Given the description of an element on the screen output the (x, y) to click on. 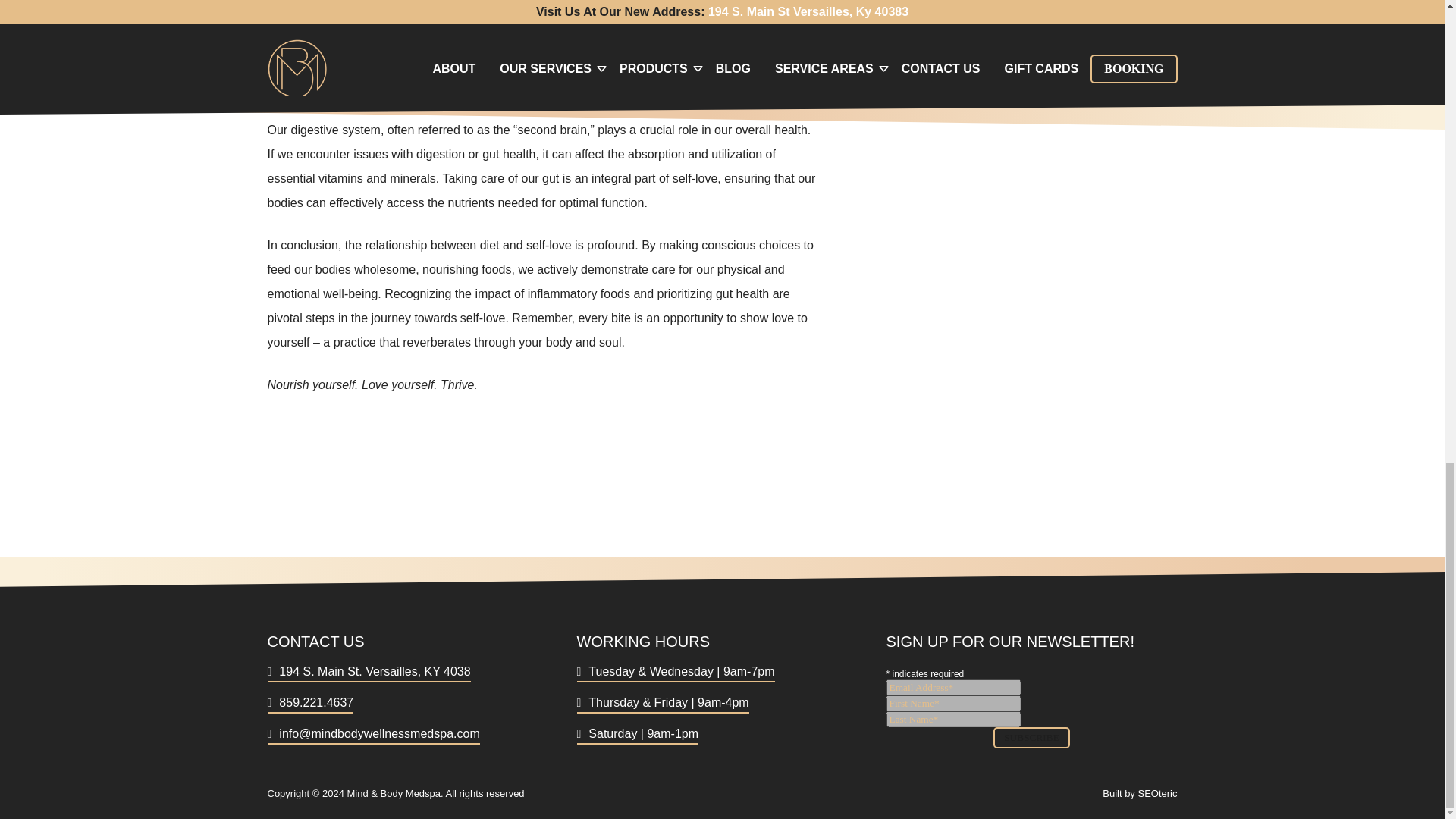
Subscribe (1031, 737)
859.221.4637 (309, 702)
194 S. Main St. Versailles, KY 4038 (368, 671)
Subscribe (1031, 737)
SEOteric (1156, 793)
